Given the description of an element on the screen output the (x, y) to click on. 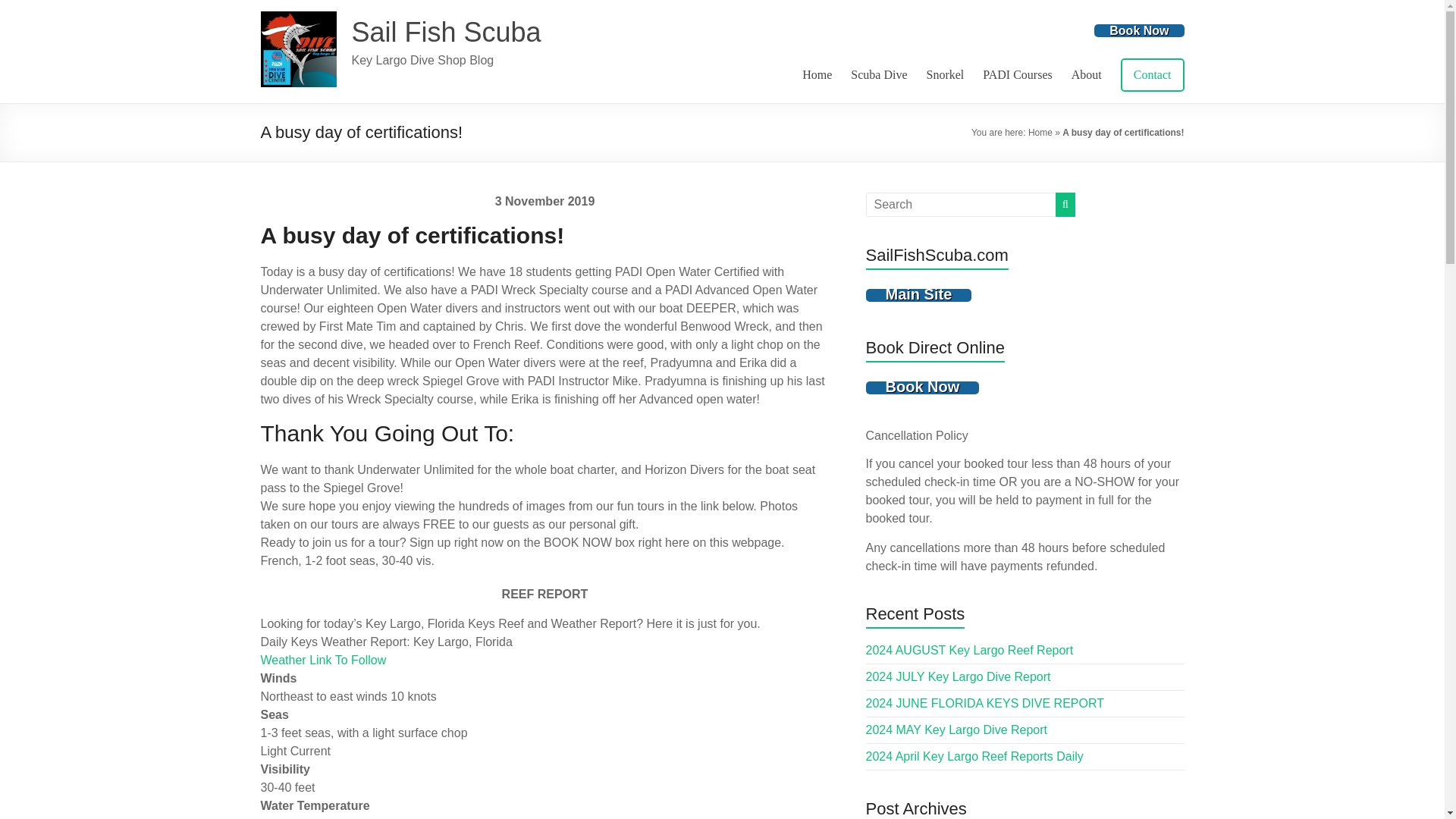
Book Now (1138, 30)
Snorkel (944, 74)
PADI Courses (1016, 74)
Contact (1153, 74)
Home (816, 74)
Sail Fish Scuba (446, 31)
Weather Link To Follow (323, 659)
Sail Fish Scuba (446, 31)
About (1086, 74)
Home (1039, 132)
Scuba Dive (878, 74)
